Given the description of an element on the screen output the (x, y) to click on. 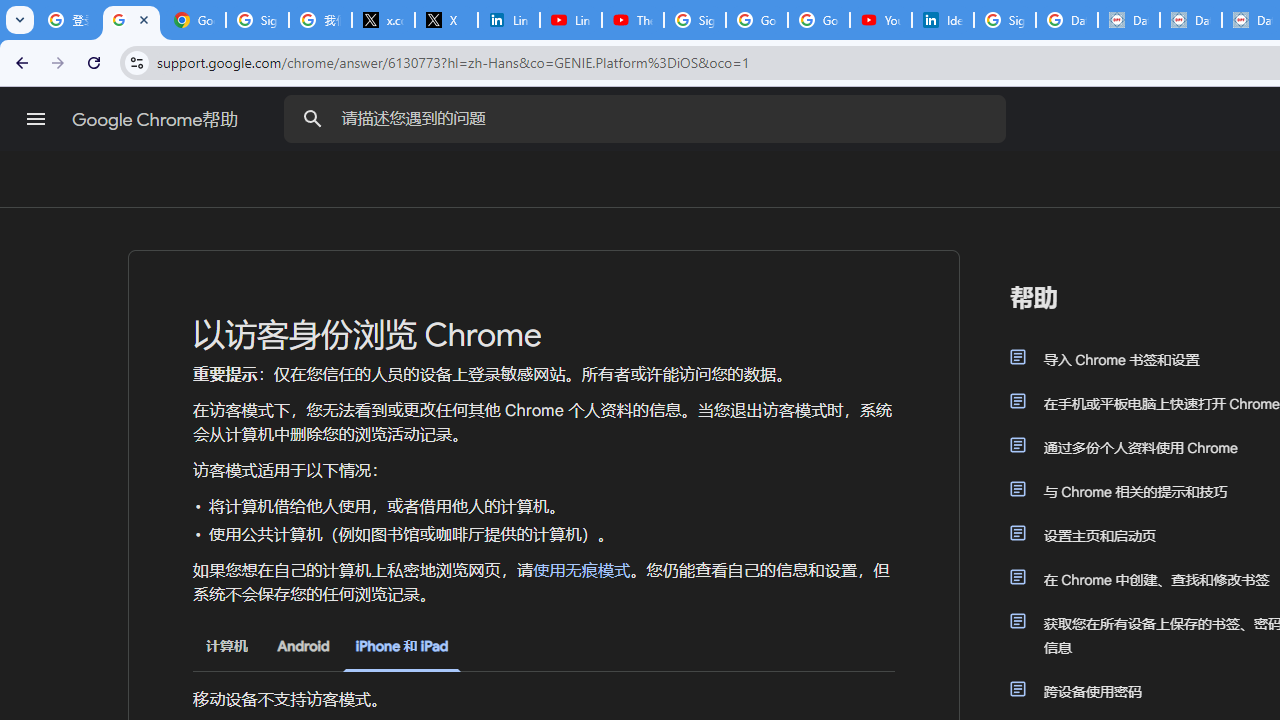
X (445, 20)
Android (303, 646)
Sign in - Google Accounts (694, 20)
Data Privacy Framework (1190, 20)
Sign in - Google Accounts (257, 20)
